Given the description of an element on the screen output the (x, y) to click on. 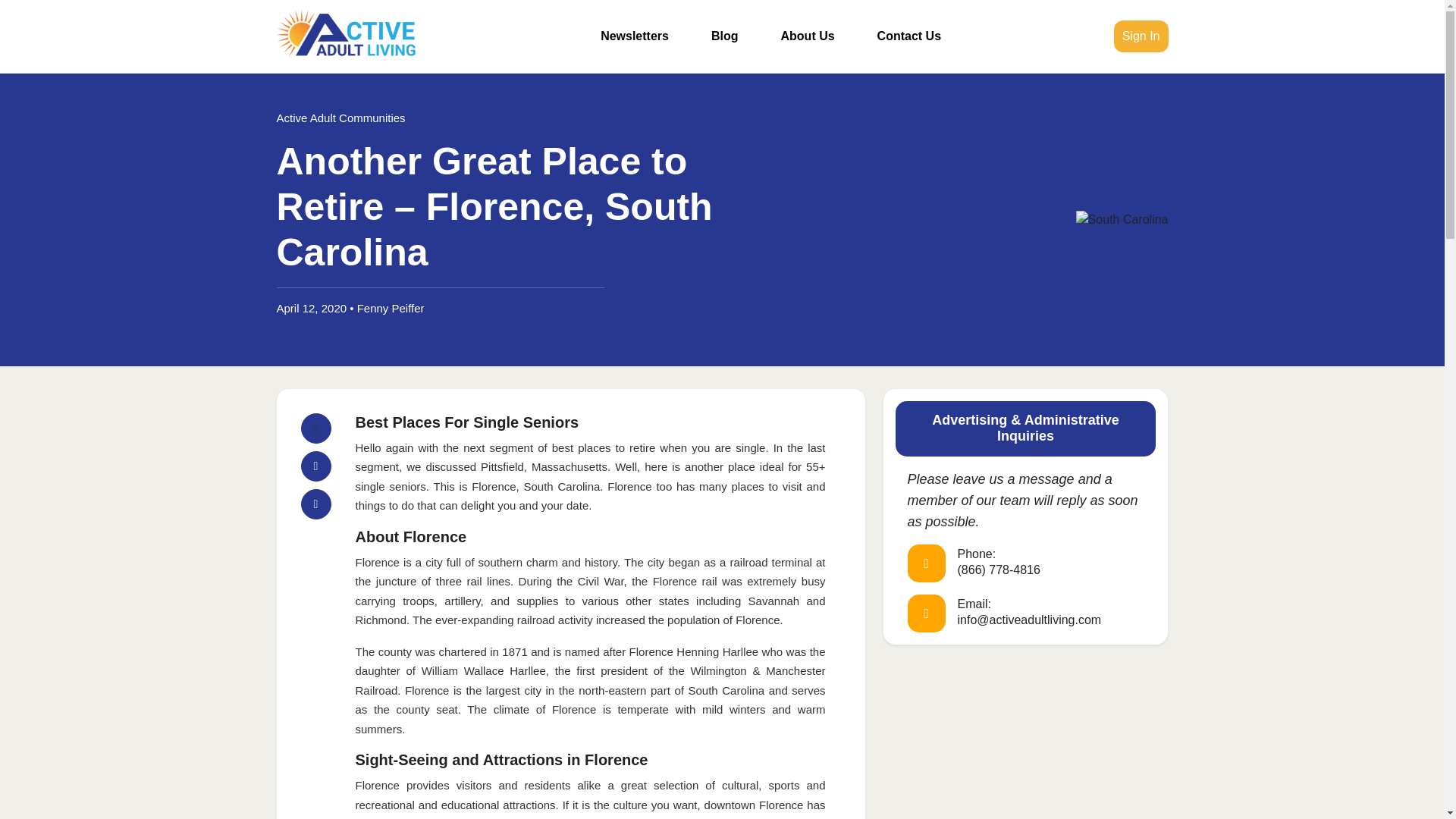
About Us (807, 36)
Contact Us (908, 36)
Sign In (1141, 36)
Newsletters (634, 36)
Blog (724, 36)
